Given the description of an element on the screen output the (x, y) to click on. 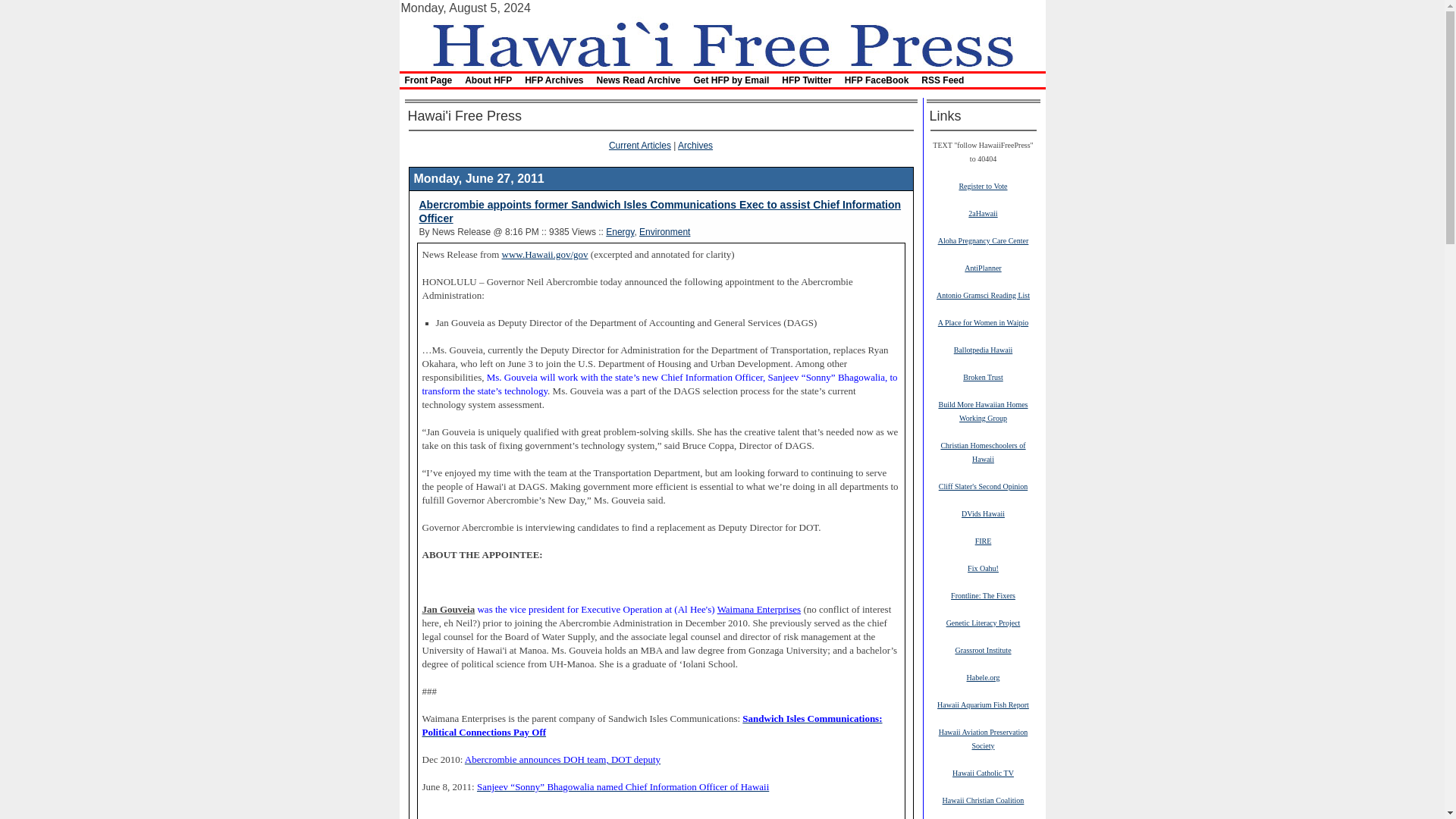
Genetic Literacy Project (983, 622)
Sandwich Isles Communications: Political Connections Pay Off (652, 724)
Cliff Slater's Second Opinion (983, 485)
Hawaii Catholic TV (982, 772)
Hawaii Free Press (721, 42)
Aloha Pregnancy Care Center (983, 240)
Christian Homeschoolers of Hawaii (982, 451)
Broken Trust (982, 376)
DVids Hawaii (982, 512)
Environment (664, 231)
Hawaii Aviation Preservation Society (983, 738)
Archives (695, 145)
Register to Vote (982, 185)
Hawaii Christian Coalition (983, 799)
Grassroot Institute (982, 649)
